Given the description of an element on the screen output the (x, y) to click on. 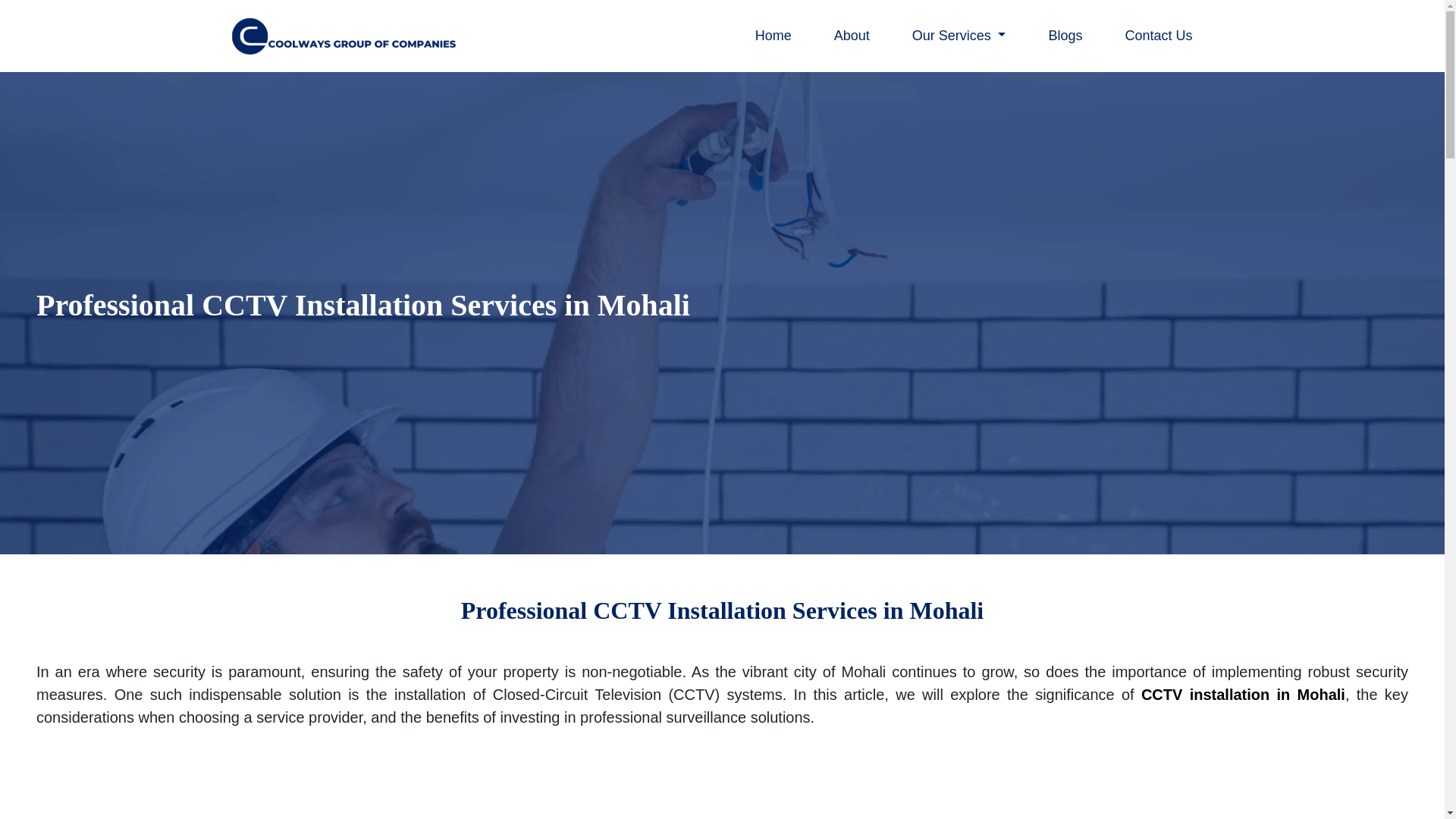
Our Services (958, 35)
Blogs (1064, 35)
Contact Us (1158, 35)
About (852, 35)
Home (773, 35)
CCTV installation in Mohali (1243, 694)
